Given the description of an element on the screen output the (x, y) to click on. 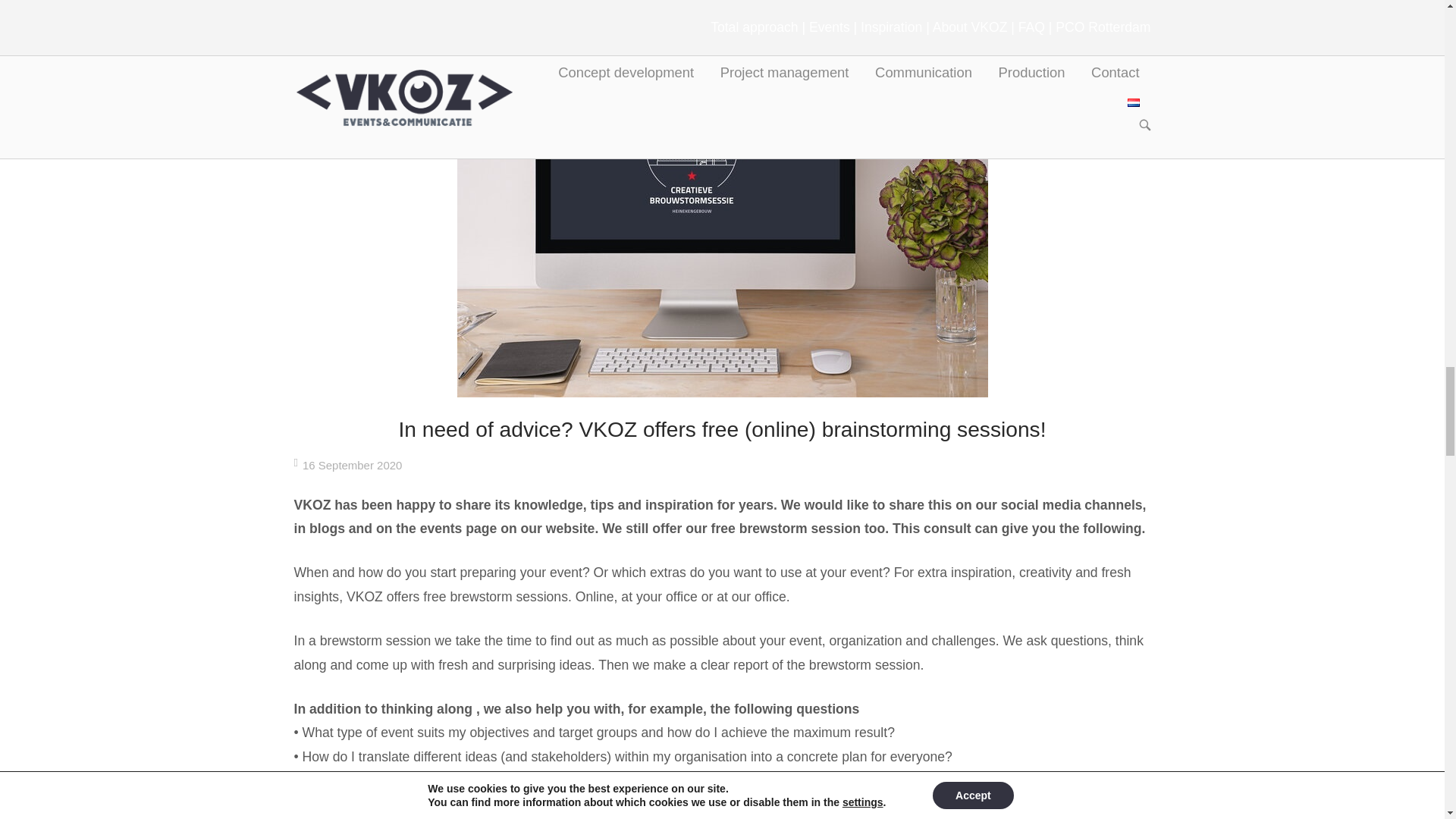
16 September 2020 (351, 464)
